Given the description of an element on the screen output the (x, y) to click on. 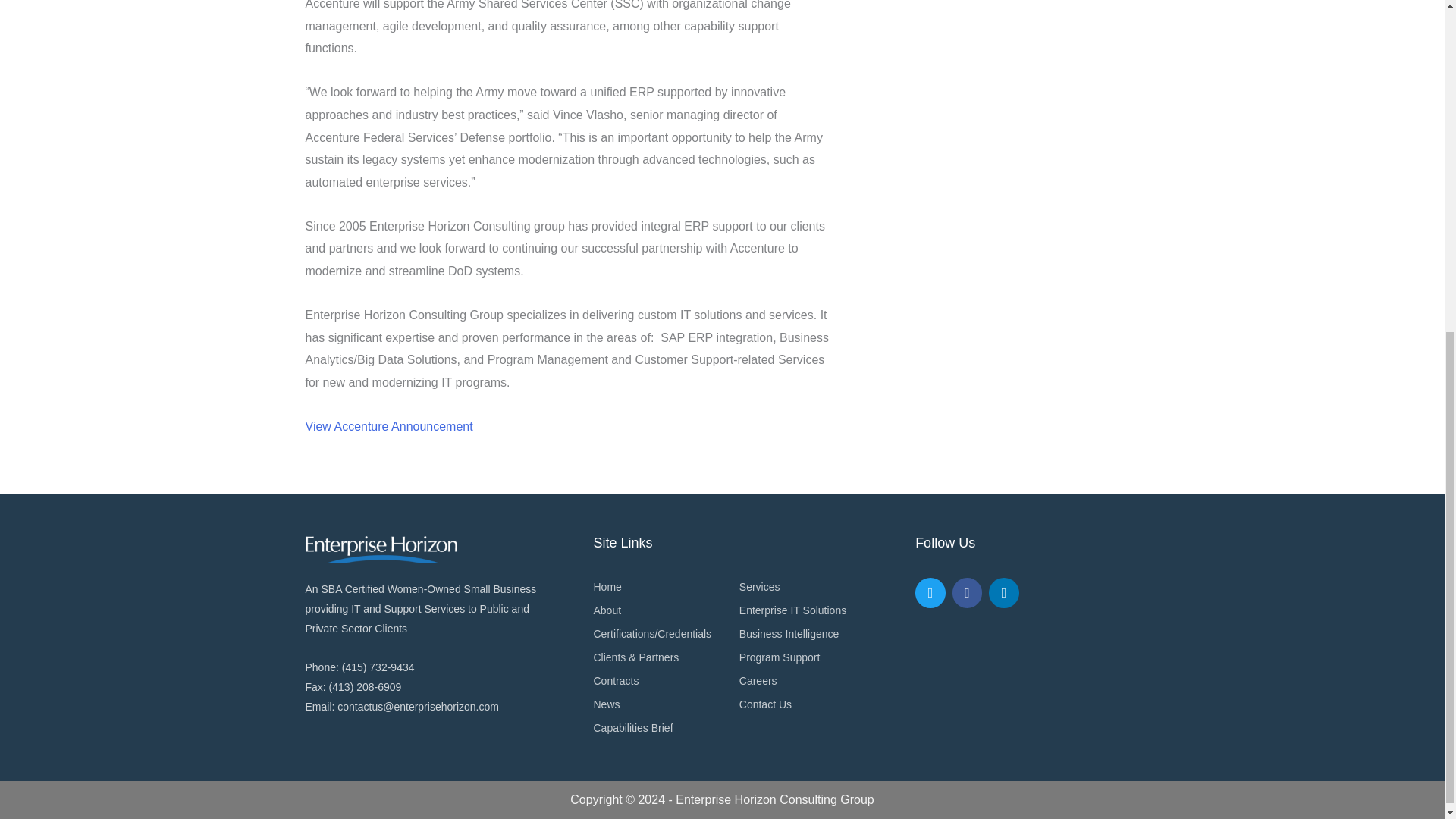
Home (665, 587)
View Accenture Announcement (387, 426)
